Given the description of an element on the screen output the (x, y) to click on. 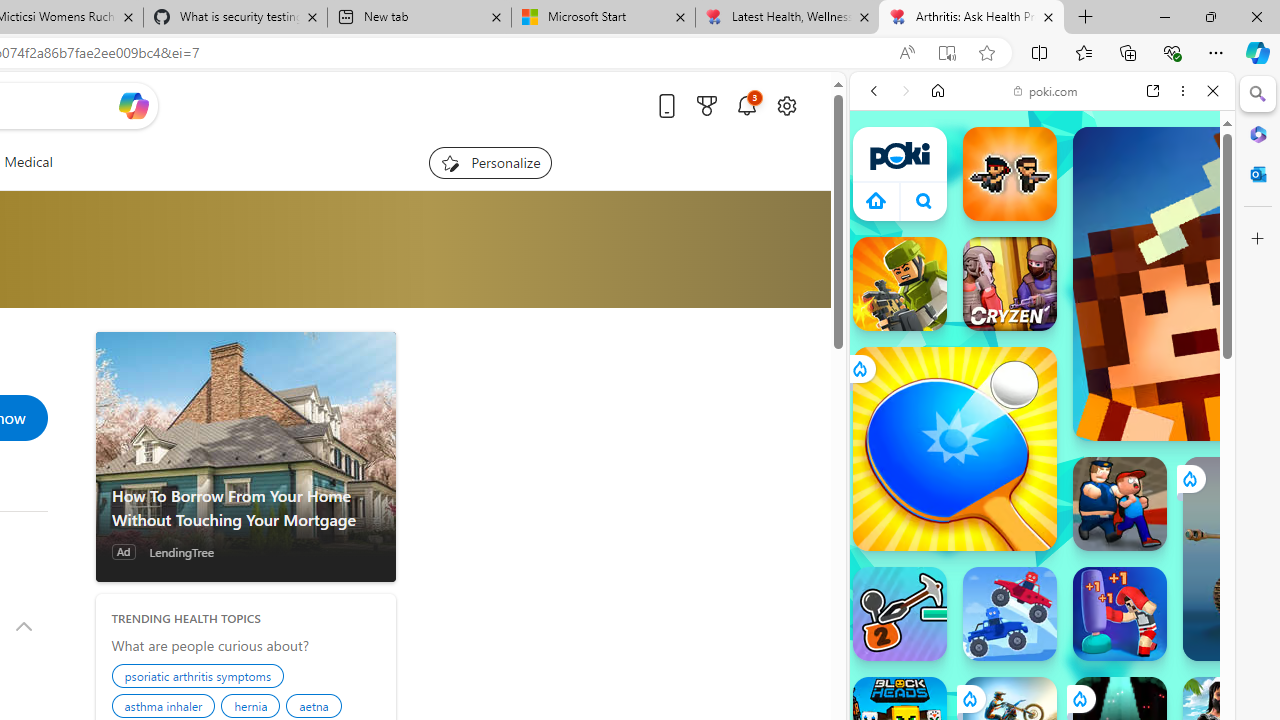
Escape From School (1119, 503)
Sports Games (1042, 666)
Class: aprWdaSScyiJf4Jvmsx9 (875, 200)
Shooting Games (1042, 519)
Punch Legend Simulator Punch Legend Simulator (1119, 613)
Stickman Climb 2 Stickman Climb 2 (899, 613)
Shooting Games (1042, 518)
